Given the description of an element on the screen output the (x, y) to click on. 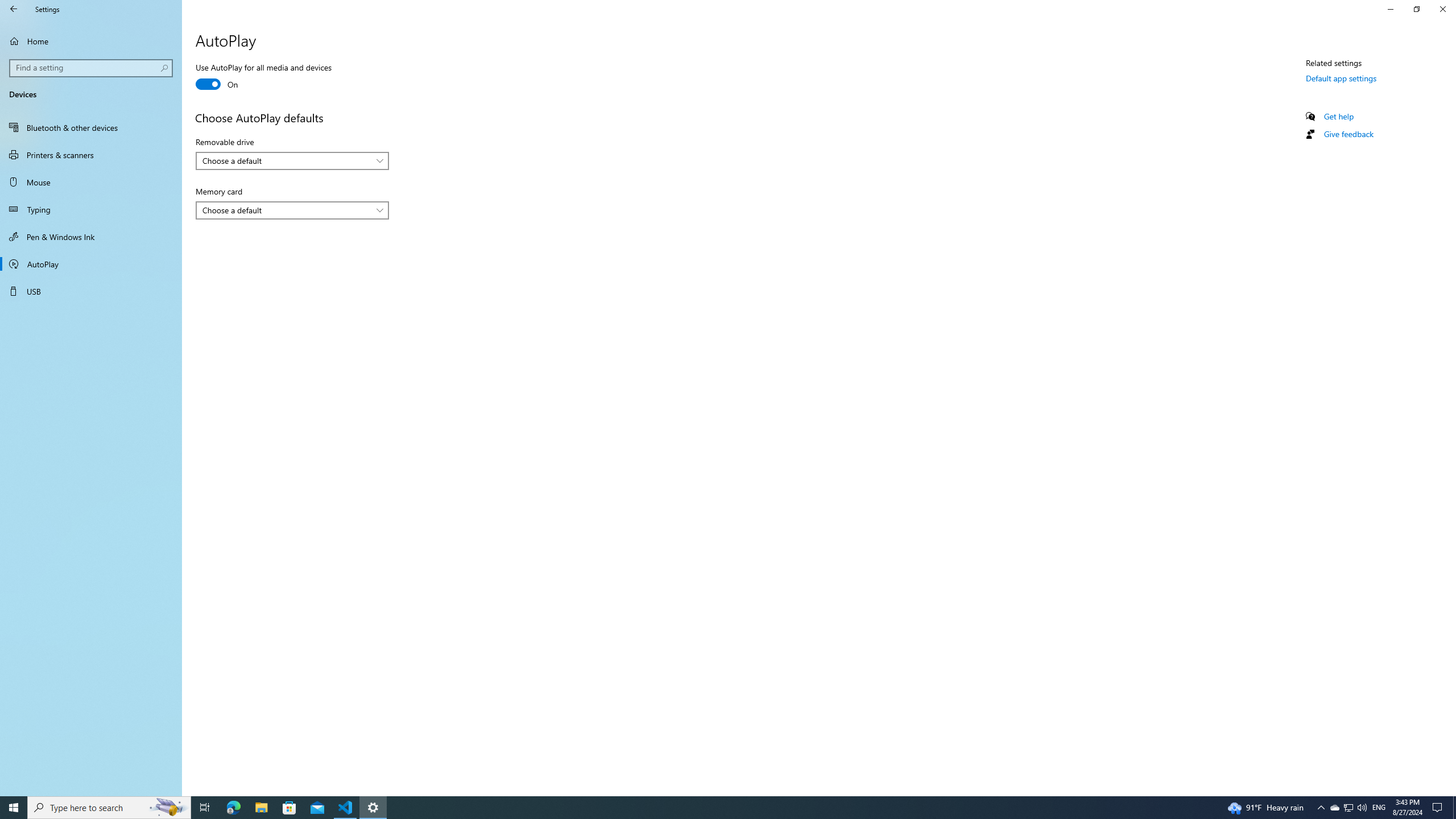
Pen & Windows Ink (91, 236)
Typing (91, 208)
